Given the description of an element on the screen output the (x, y) to click on. 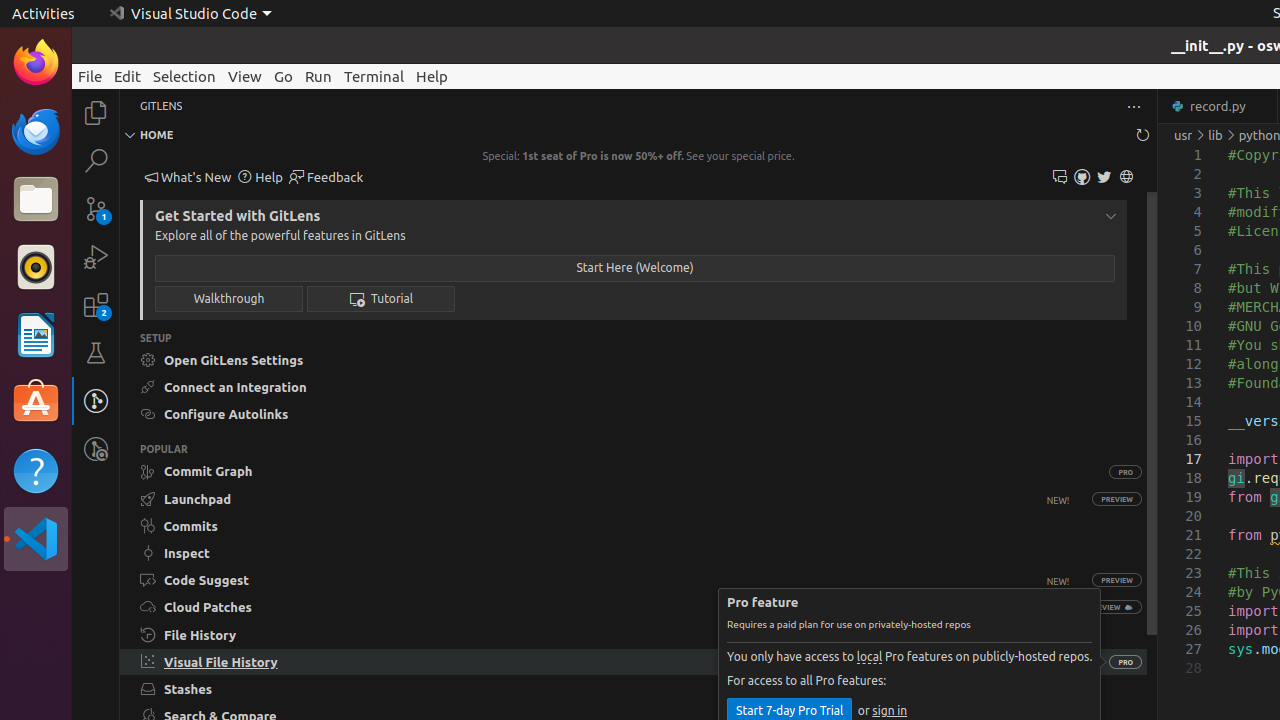
Extensions (Ctrl+Shift+X) - 2 require restart Extensions (Ctrl+Shift+X) - 2 require restart Element type: page-tab (96, 305)
Show Inspect view Element type: link (633, 553)
GitLens Website Element type: link (1126, 177)
Watch the GitLens Tutorial video Element type: link (381, 298)
sign in Element type: link (890, 711)
